Given the description of an element on the screen output the (x, y) to click on. 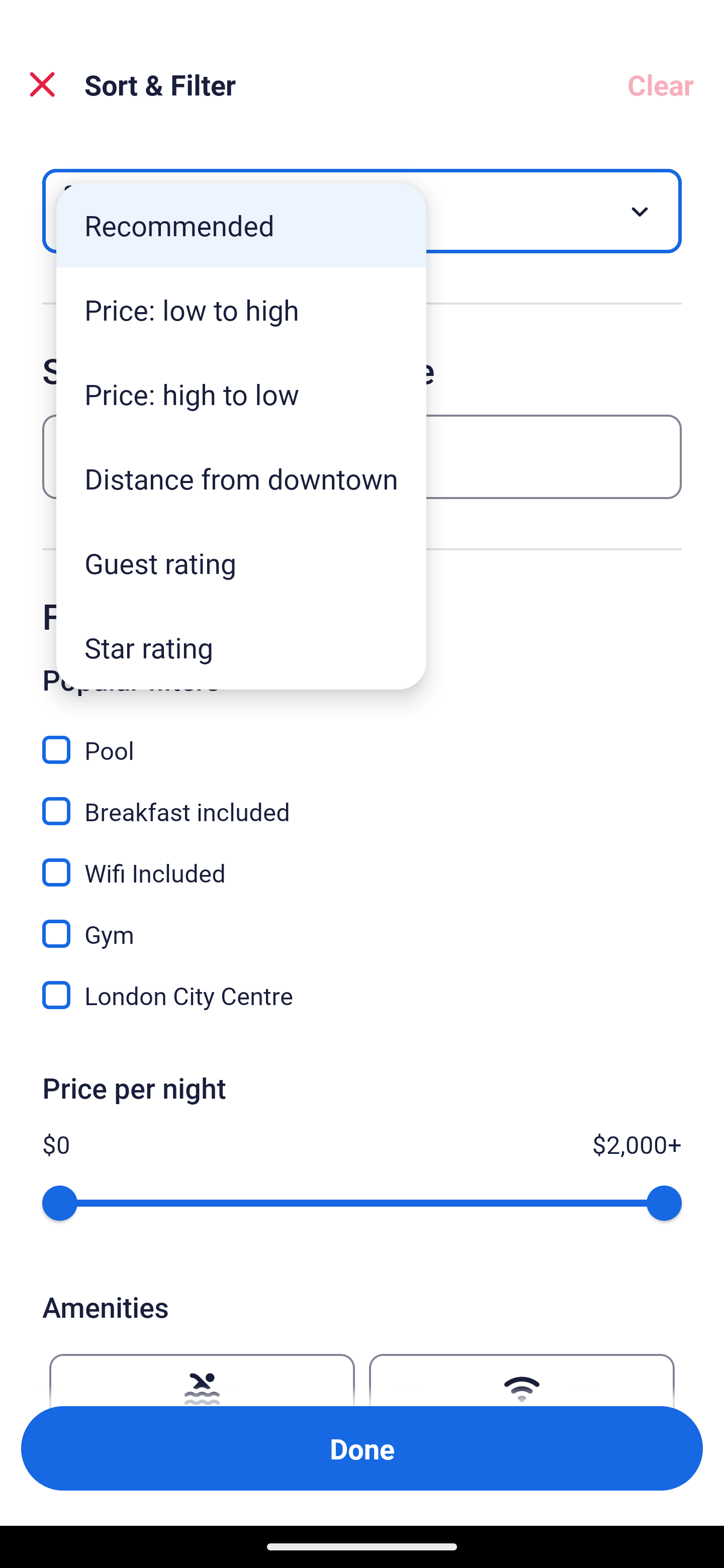
Price: low to high (241, 309)
Price: high to low (241, 393)
Distance from downtown (241, 477)
Guest rating (241, 562)
Star rating (241, 647)
